Given the description of an element on the screen output the (x, y) to click on. 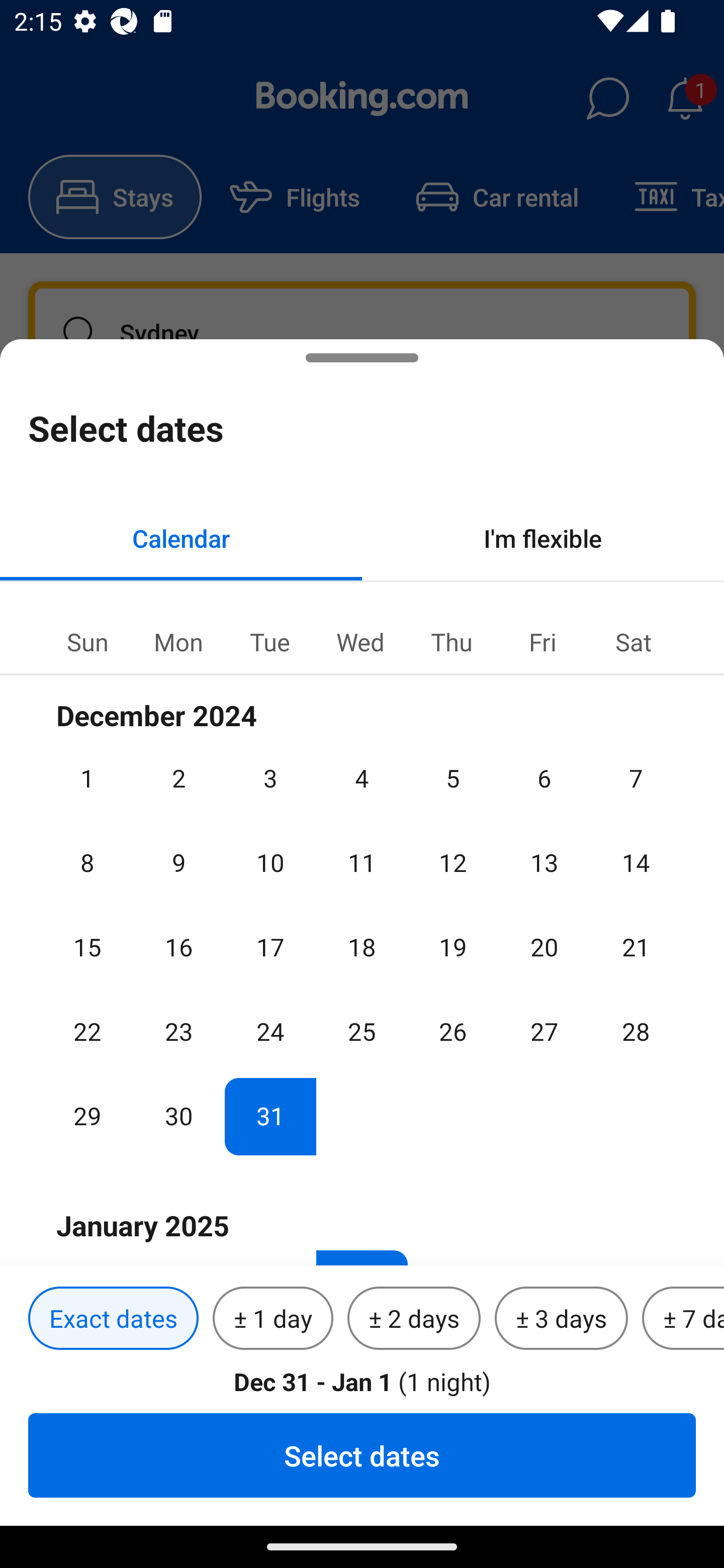
I'm flexible (543, 537)
Exact dates (113, 1318)
± 1 day (272, 1318)
± 2 days (413, 1318)
± 3 days (560, 1318)
± 7 days (683, 1318)
Select dates (361, 1454)
